Given the description of an element on the screen output the (x, y) to click on. 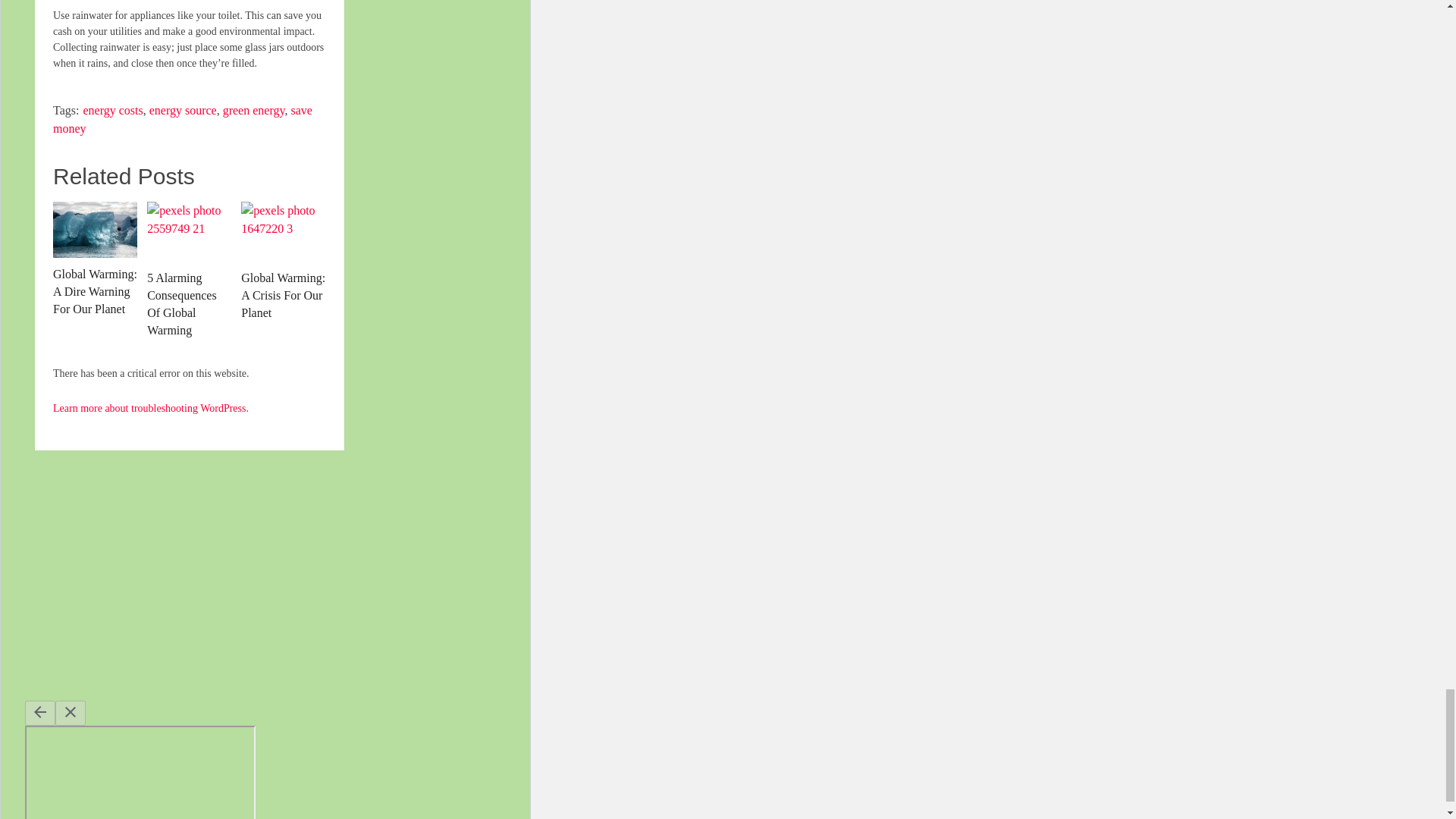
Global Warming: A Dire Warning For Our Planet (94, 229)
energy costs (112, 110)
energy source (182, 110)
green energy (253, 110)
save money (182, 119)
Learn more about troubleshooting WordPress. (150, 408)
5 Alarming Consequences Of Global Warming (189, 231)
Global Warming: A Crisis For Our Planet (282, 231)
